Given the description of an element on the screen output the (x, y) to click on. 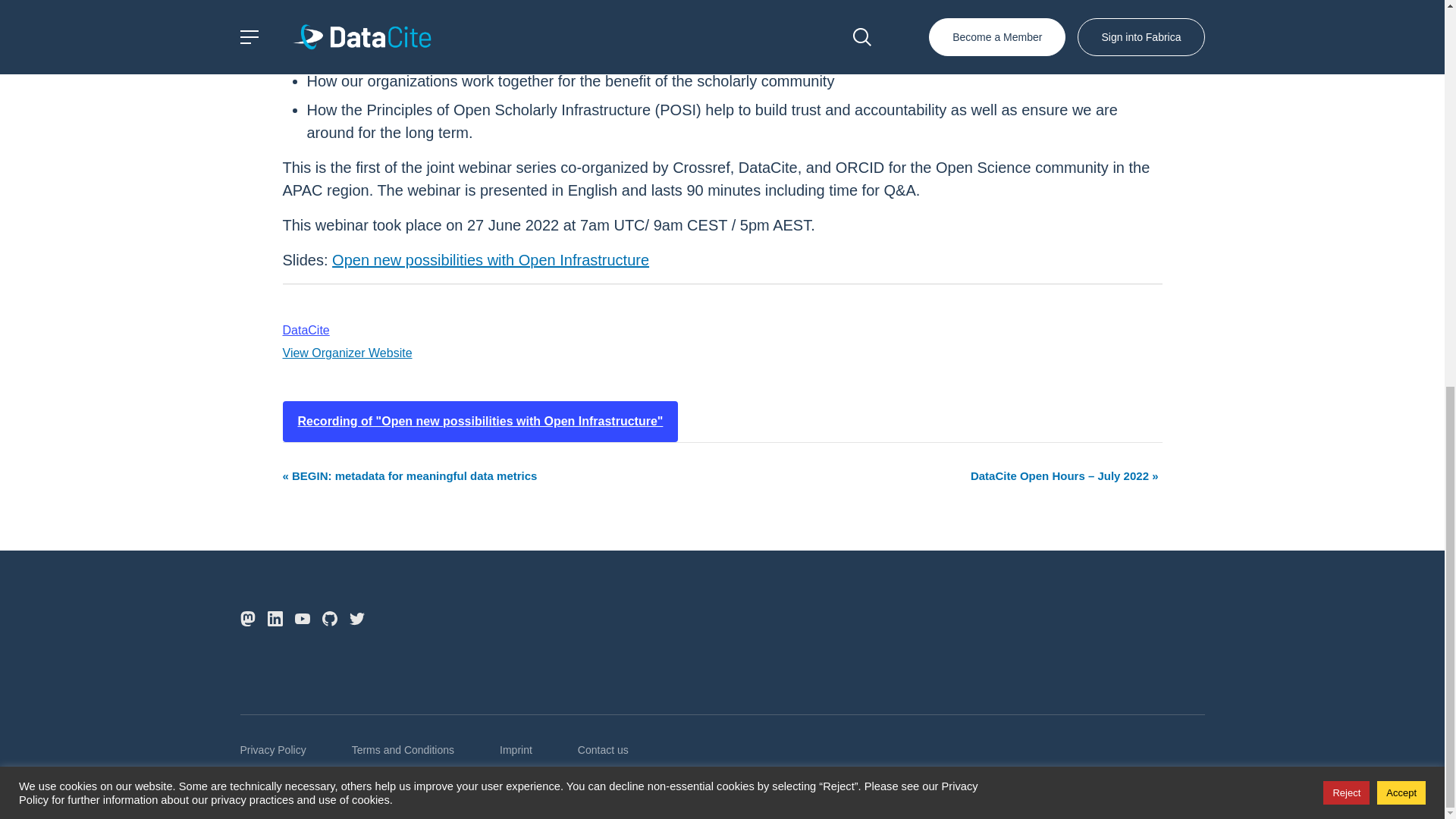
DataCite (305, 329)
